Given the description of an element on the screen output the (x, y) to click on. 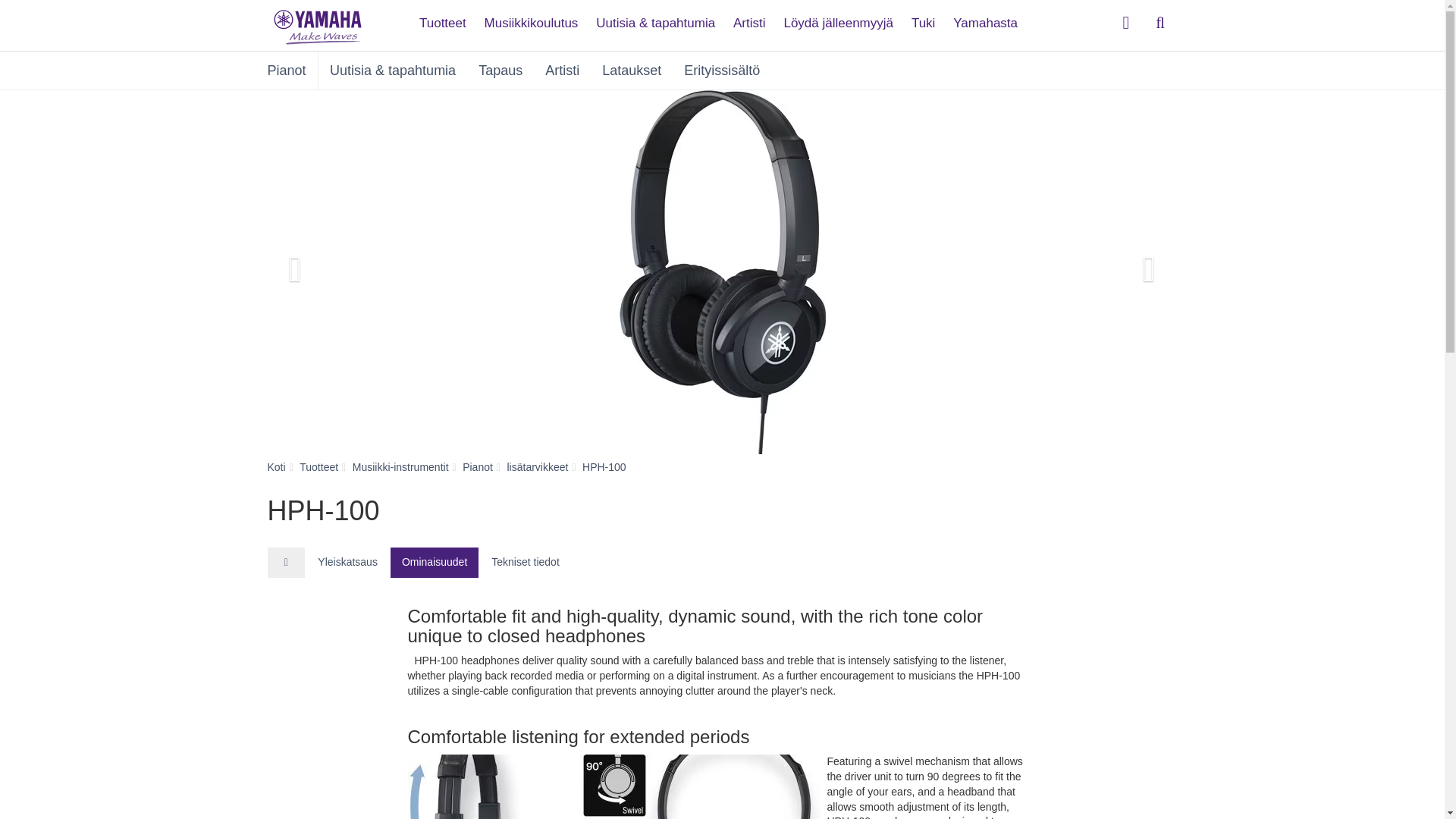
Tuki (923, 17)
login (1125, 22)
Artisti (749, 17)
Musiikkikoulutus (531, 17)
Seuraava (1119, 272)
Yamahasta (984, 17)
Edelliset (323, 272)
search (1160, 23)
Tuotteet (443, 17)
